Given the description of an element on the screen output the (x, y) to click on. 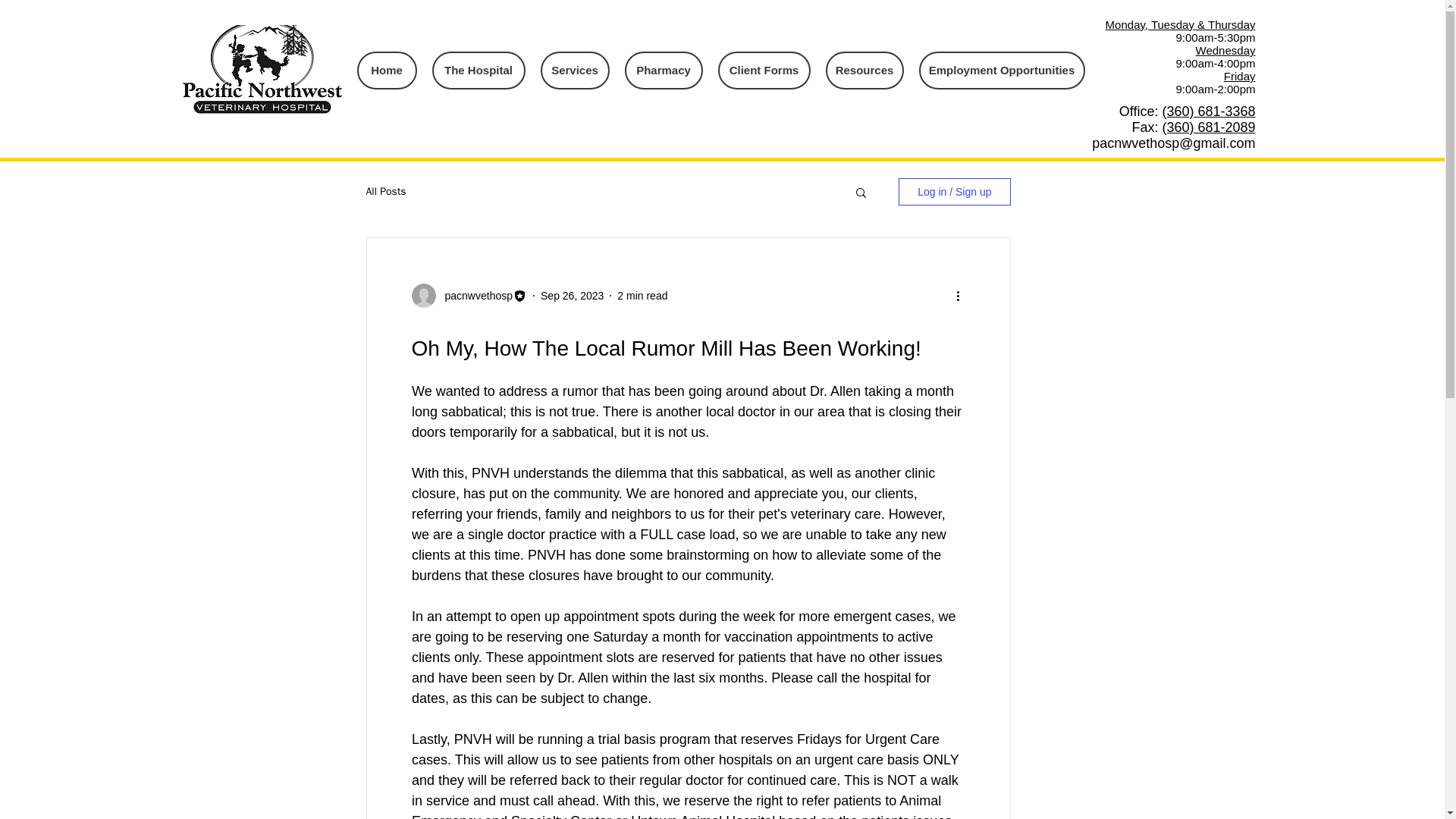
Pharmacy (663, 70)
Services (574, 70)
All Posts (385, 192)
2 min read (641, 295)
Client Forms (763, 70)
Home (386, 70)
Employment Opportunities (1001, 70)
Sep 26, 2023 (572, 295)
pacnwvethosp (473, 295)
The Hospital (478, 70)
